Given the description of an element on the screen output the (x, y) to click on. 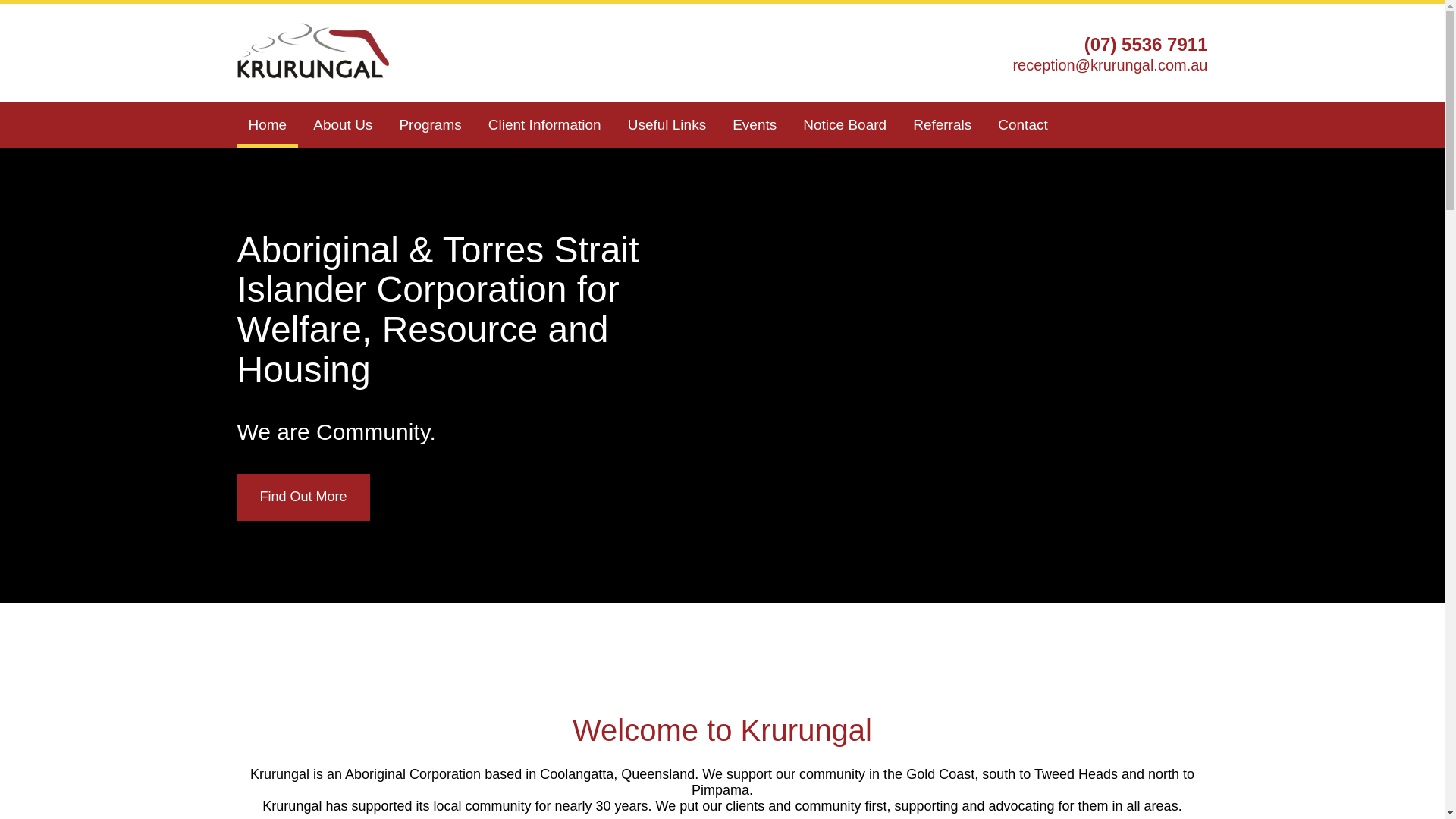
Notice Board Element type: text (844, 126)
reception@krurungal.com.au Element type: text (1109, 64)
(07) 5536 7911 Element type: text (1146, 44)
About Us Element type: text (342, 126)
Contact Element type: text (1022, 126)
Find Out More Element type: text (302, 496)
Programs Element type: text (429, 126)
Home Element type: text (267, 126)
Referrals Element type: text (941, 126)
Client Information Element type: text (544, 126)
Events Element type: text (754, 126)
Useful Links Element type: text (667, 126)
